Given the description of an element on the screen output the (x, y) to click on. 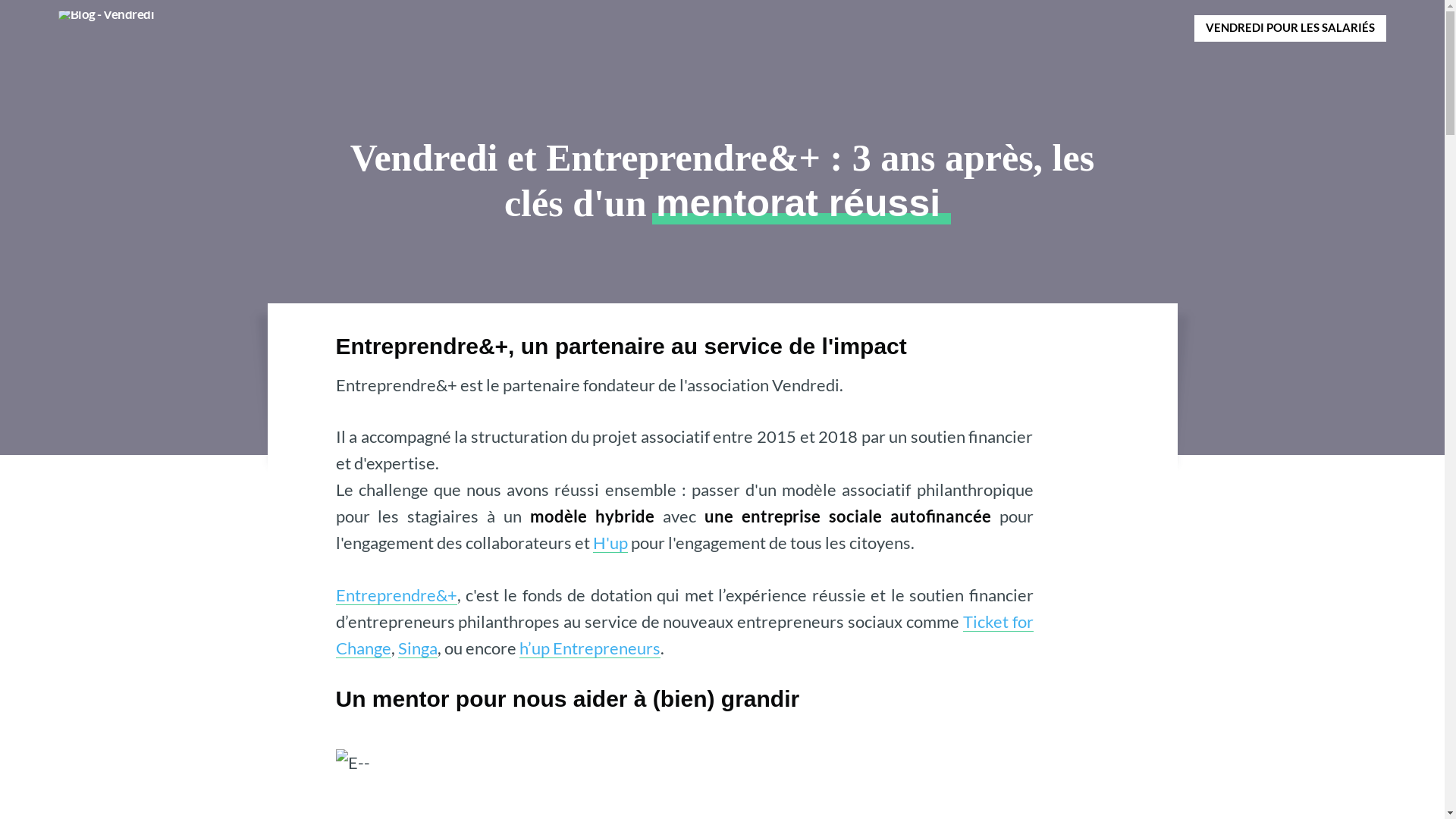
H'up Element type: text (610, 542)
Ticket for Change Element type: text (683, 634)
Entreprendre&+ Element type: text (395, 594)
Singa Element type: text (416, 647)
